Given the description of an element on the screen output the (x, y) to click on. 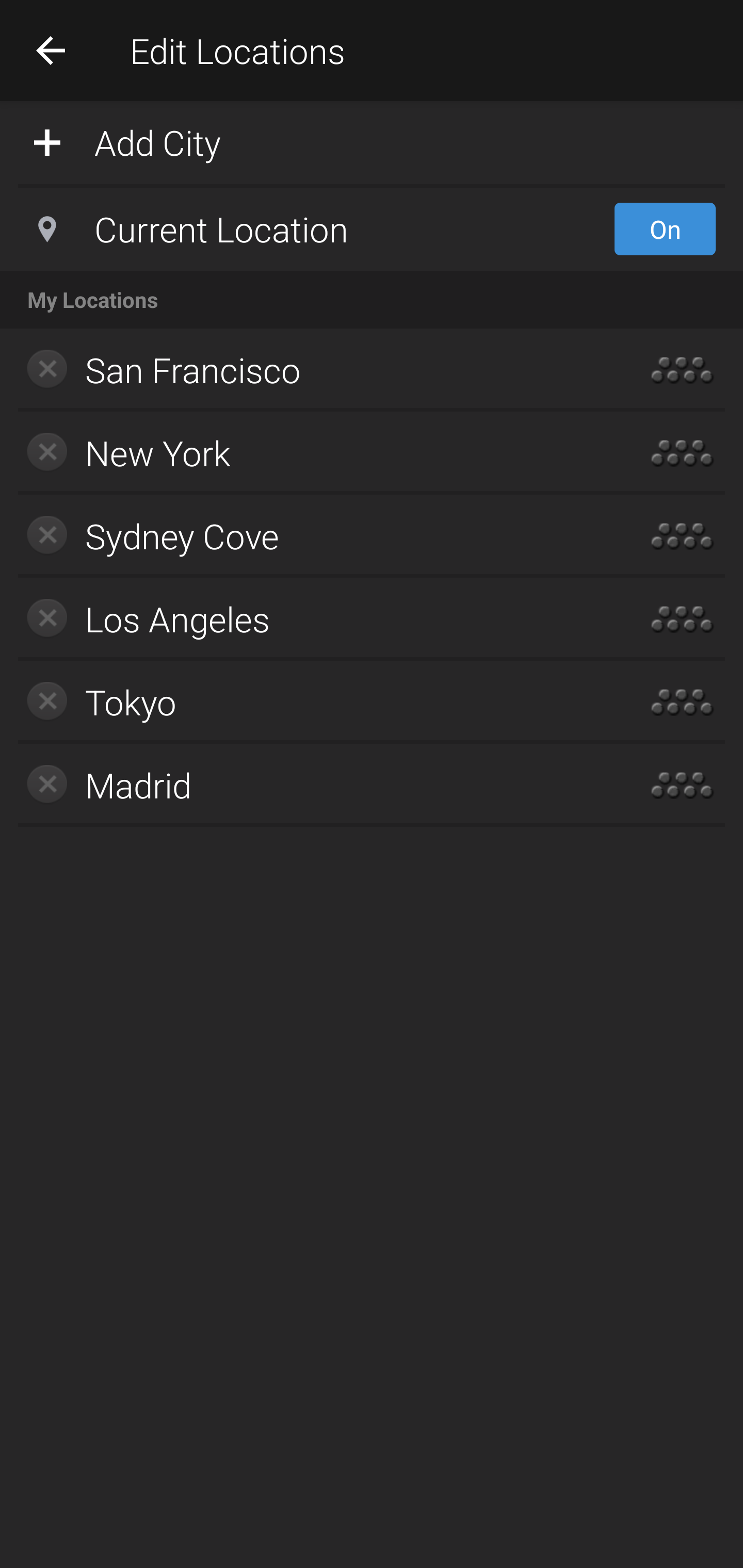
Navigate up (50, 50)
Add City (371, 141)
Current Location: On Current Location On (371, 229)
Delete: San Francisco San Francisco (311, 369)
Delete: New York New York (311, 452)
Delete: Sydney Cove Sydney Cove (311, 535)
Delete: Los Angeles Los Angeles (311, 618)
Delete: Tokyo Tokyo (311, 701)
Delete: Madrid Madrid (311, 784)
